Given the description of an element on the screen output the (x, y) to click on. 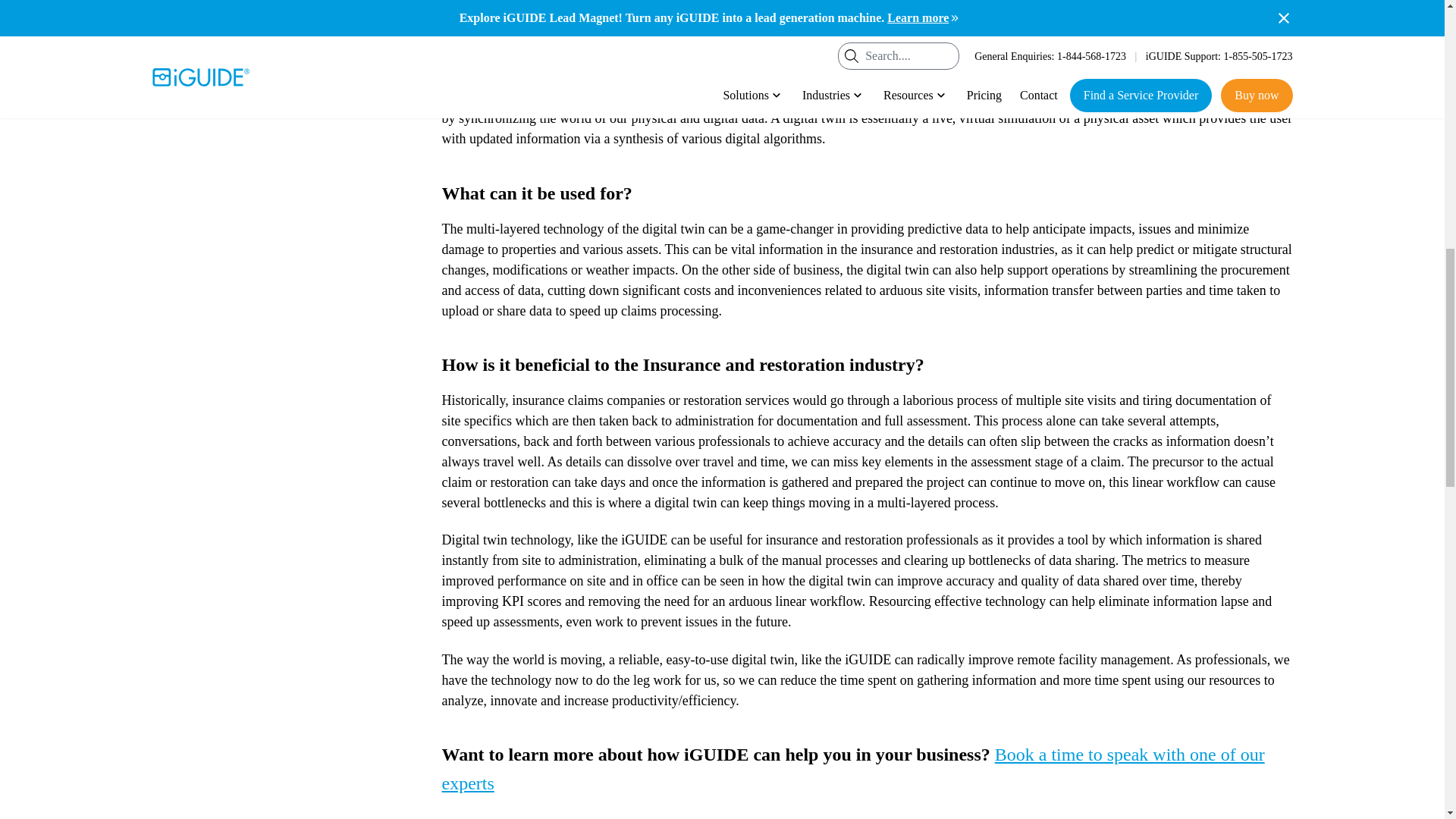
Book a time to speak with one of our experts (852, 768)
